Given the description of an element on the screen output the (x, y) to click on. 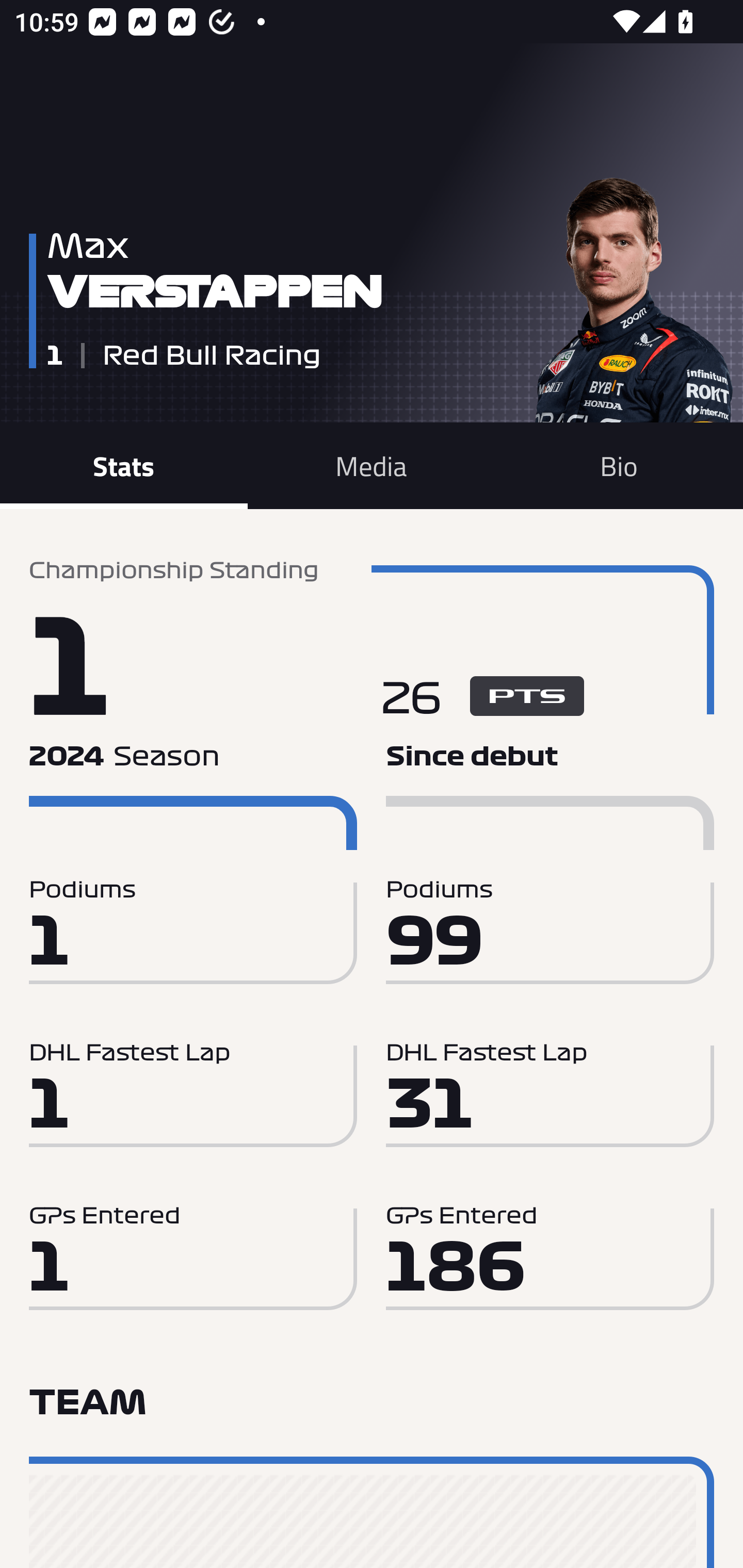
Media (371, 465)
Bio (619, 465)
